Given the description of an element on the screen output the (x, y) to click on. 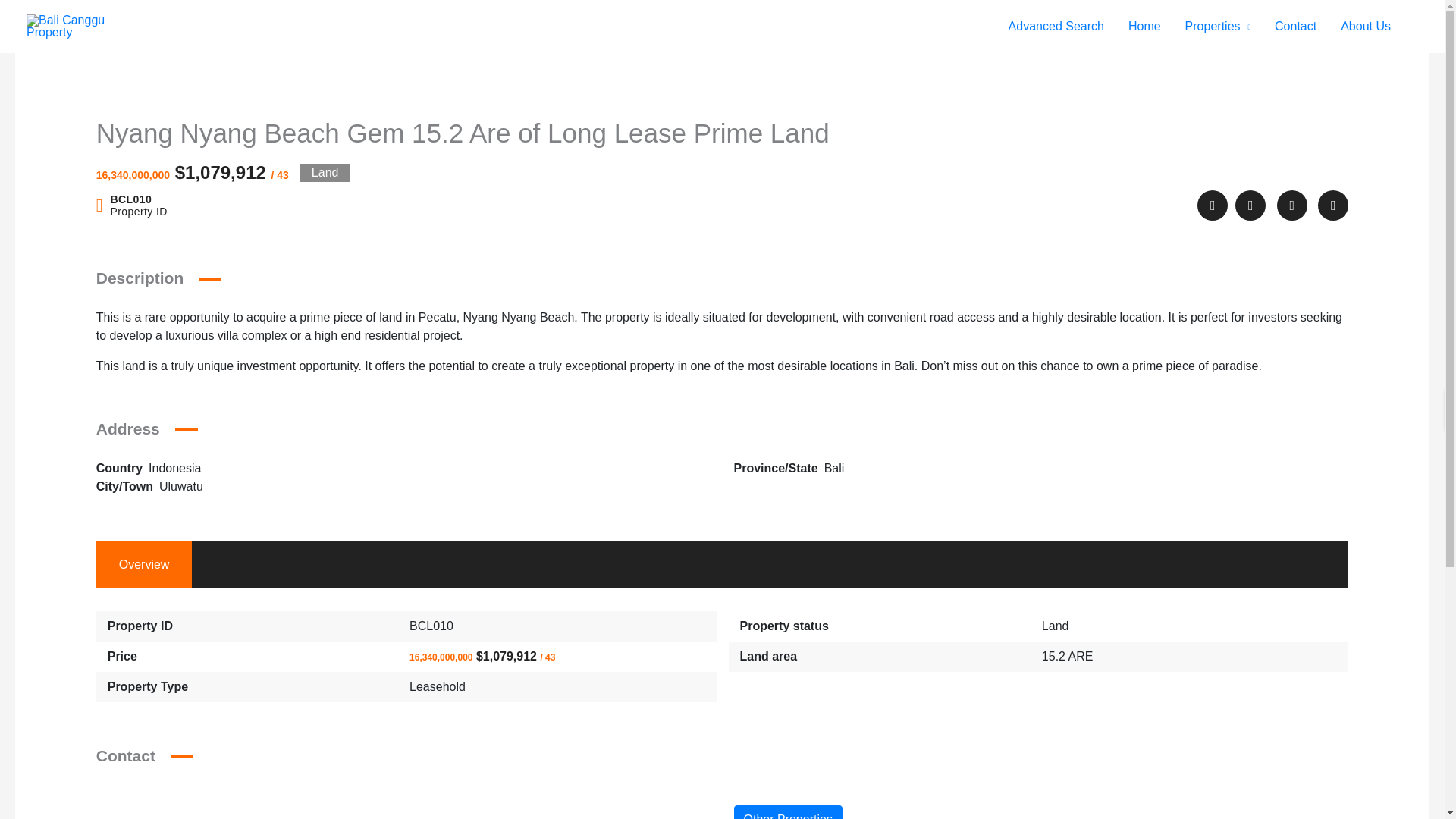
Bali (834, 468)
Advanced Search (1055, 26)
Properties (1217, 26)
Compare (1291, 205)
Property ID (131, 205)
Add to Favorite (1249, 205)
About Us (1365, 26)
Contact (1294, 26)
Home (1144, 26)
